Given the description of an element on the screen output the (x, y) to click on. 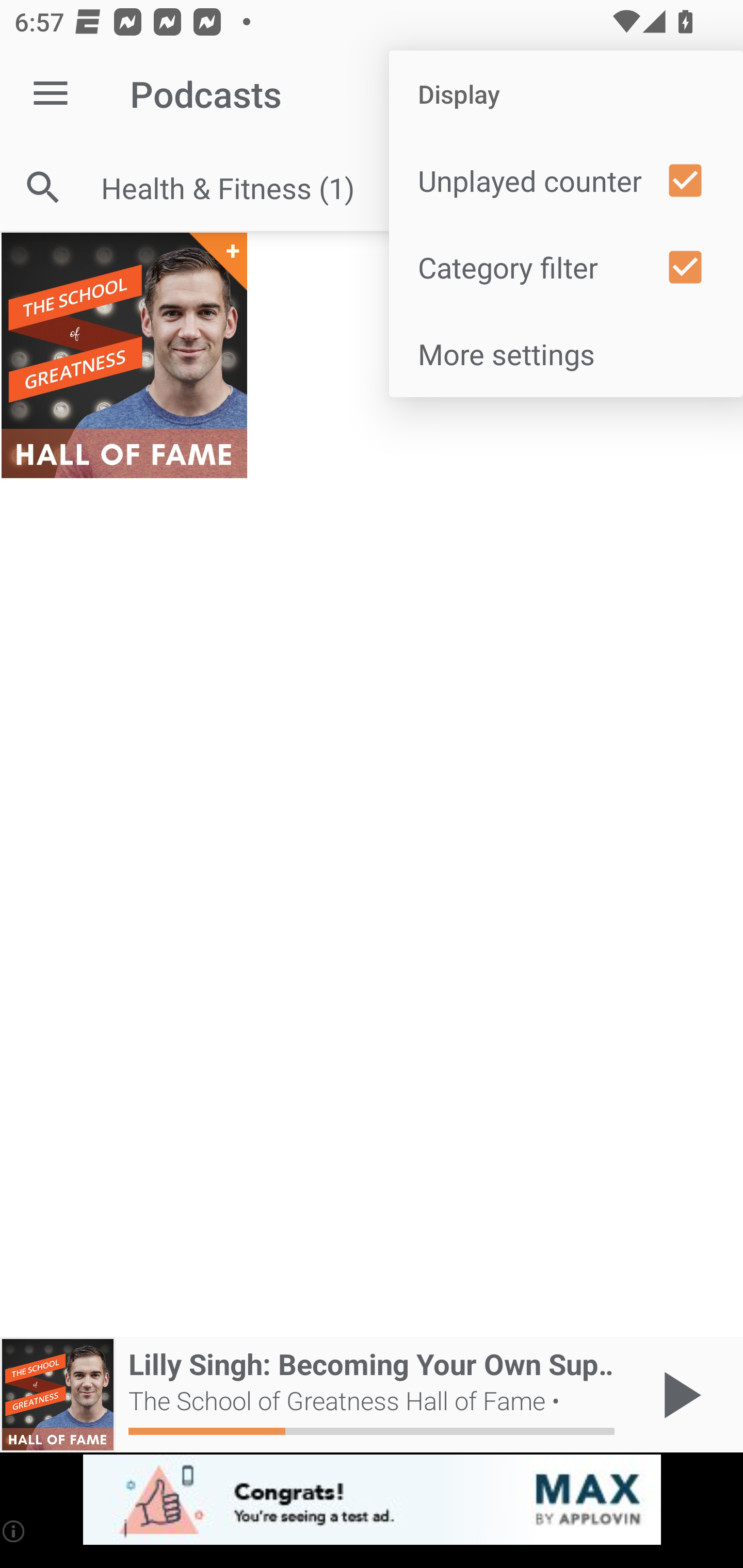
Unplayed counter (566, 180)
Category filter (566, 267)
More settings (566, 353)
